Given the description of an element on the screen output the (x, y) to click on. 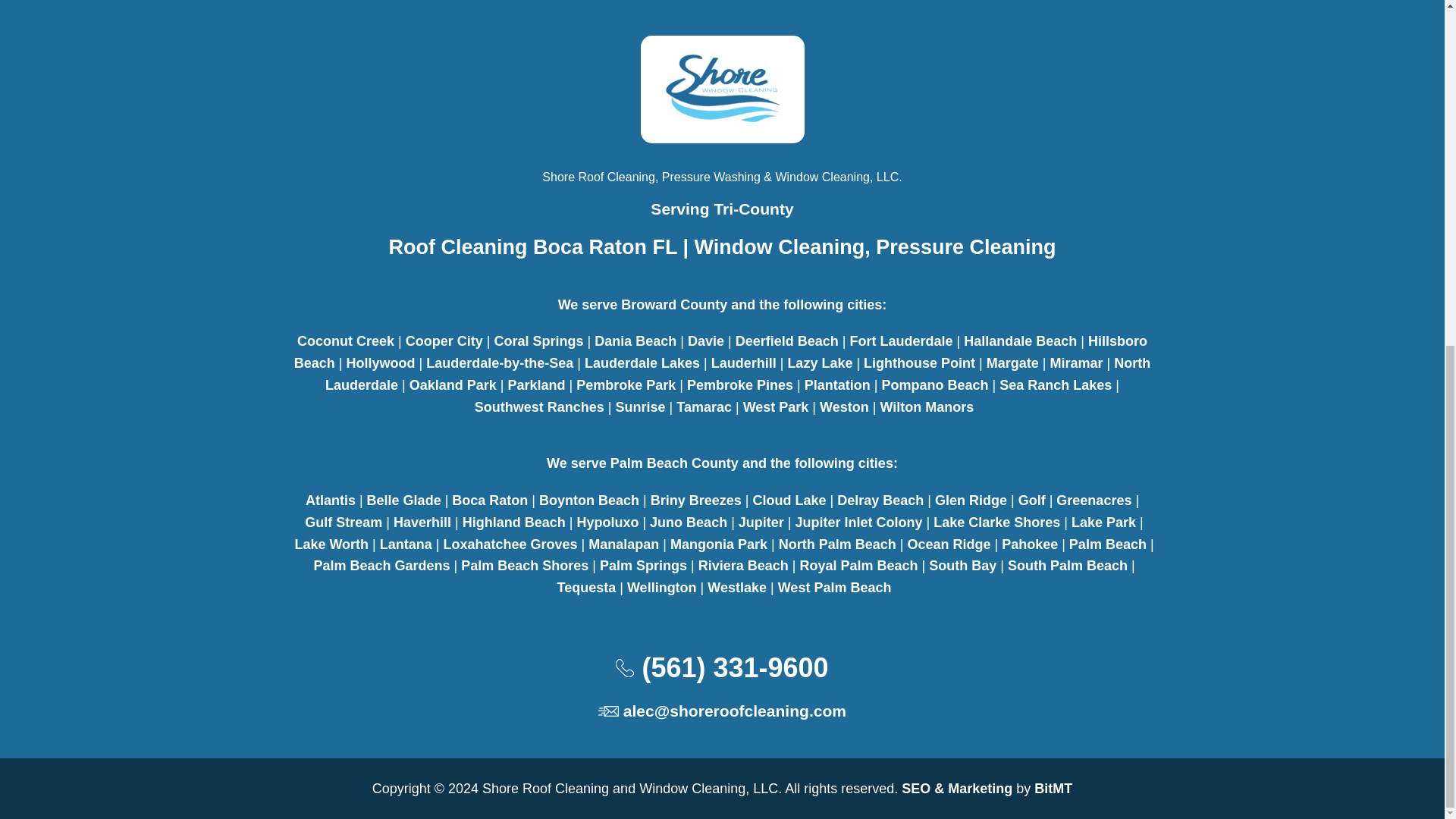
Pembroke Park (625, 385)
North Lauderdale (737, 374)
Hollywood (380, 363)
Lauderhill (743, 363)
Lazy Lake (819, 363)
Cooper City (444, 340)
Pembroke Pines (740, 385)
Fort Lauderdale (900, 340)
Dania Beach (635, 340)
Lauderdale Lakes (642, 363)
Davie (705, 340)
Parkland (537, 385)
Coconut Creek (345, 340)
Hillsboro Beach (720, 352)
Lighthouse Point (919, 363)
